Given the description of an element on the screen output the (x, y) to click on. 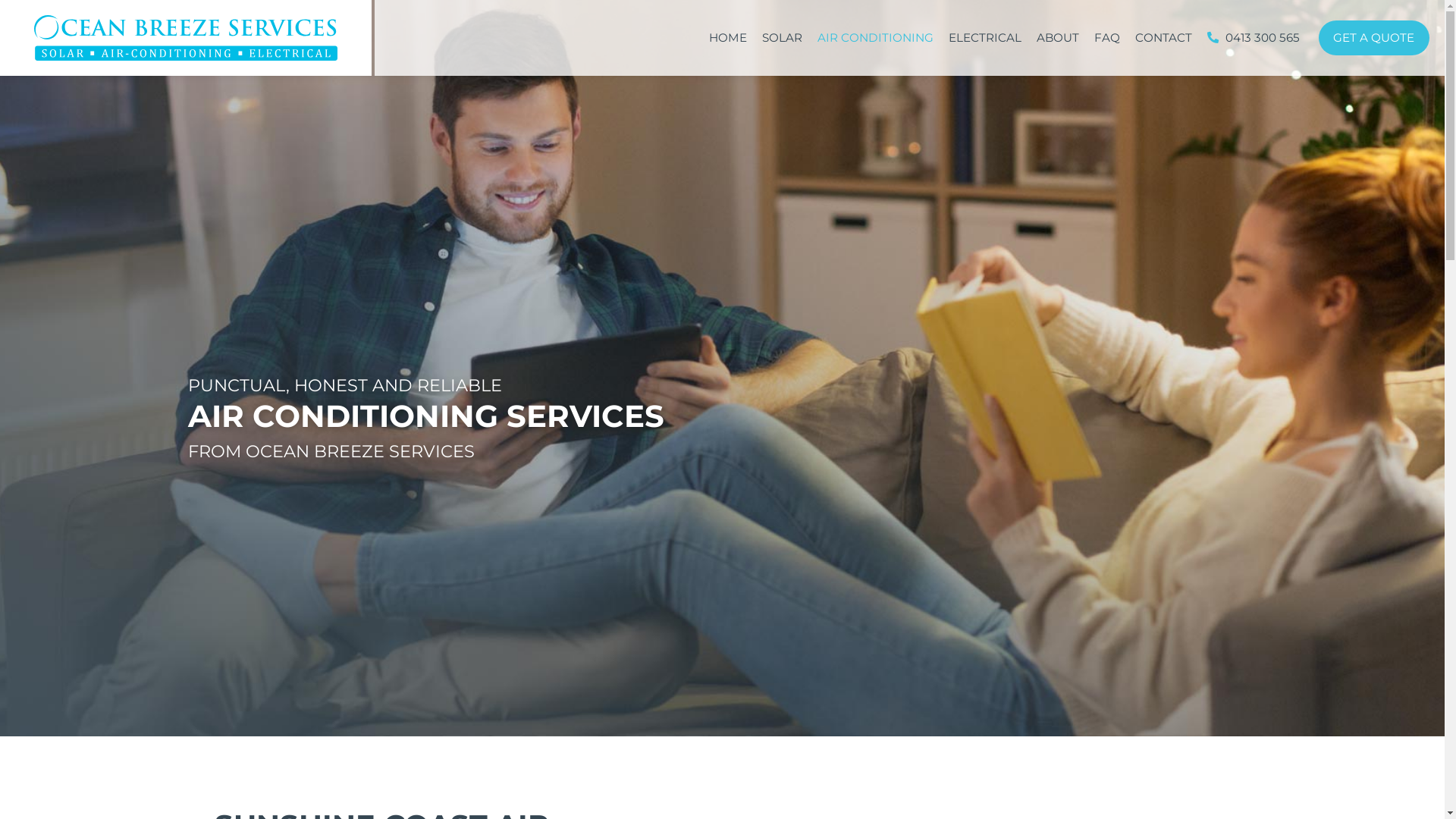
FAQ Element type: text (1105, 37)
GET A QUOTE Element type: text (1373, 37)
ELECTRICAL Element type: text (984, 37)
ABOUT Element type: text (1056, 37)
HOME Element type: text (726, 37)
0413 300 565 Element type: text (1253, 37)
SOLAR Element type: text (781, 37)
CONTACT Element type: text (1162, 37)
AIR CONDITIONING Element type: text (875, 37)
